Given the description of an element on the screen output the (x, y) to click on. 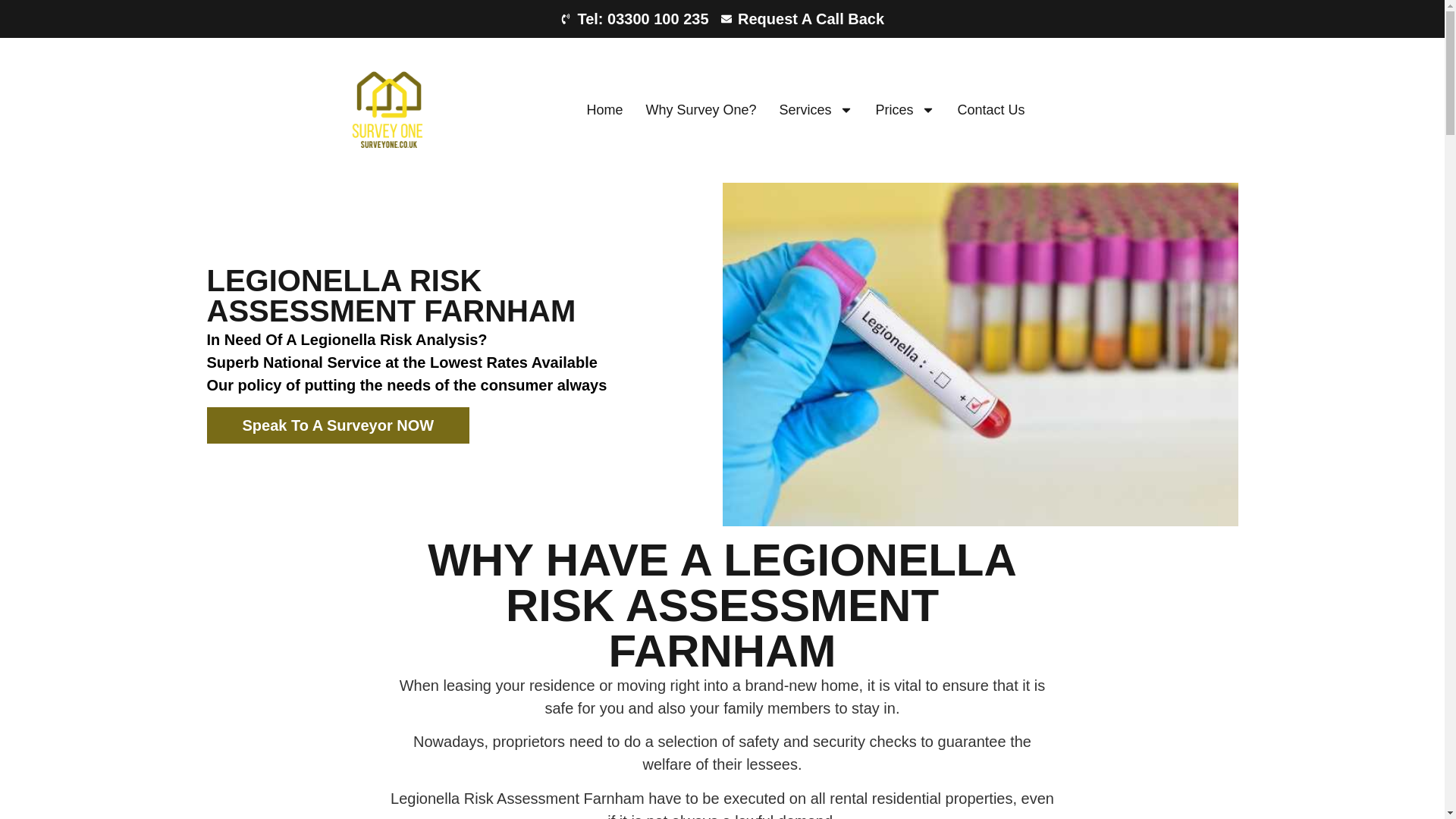
Services (814, 110)
Prices (905, 110)
Request A Call Back (802, 18)
Contact Us (991, 110)
Home (604, 110)
Why Survey One? (700, 110)
Tel: 03300 100 235 (634, 18)
